Given the description of an element on the screen output the (x, y) to click on. 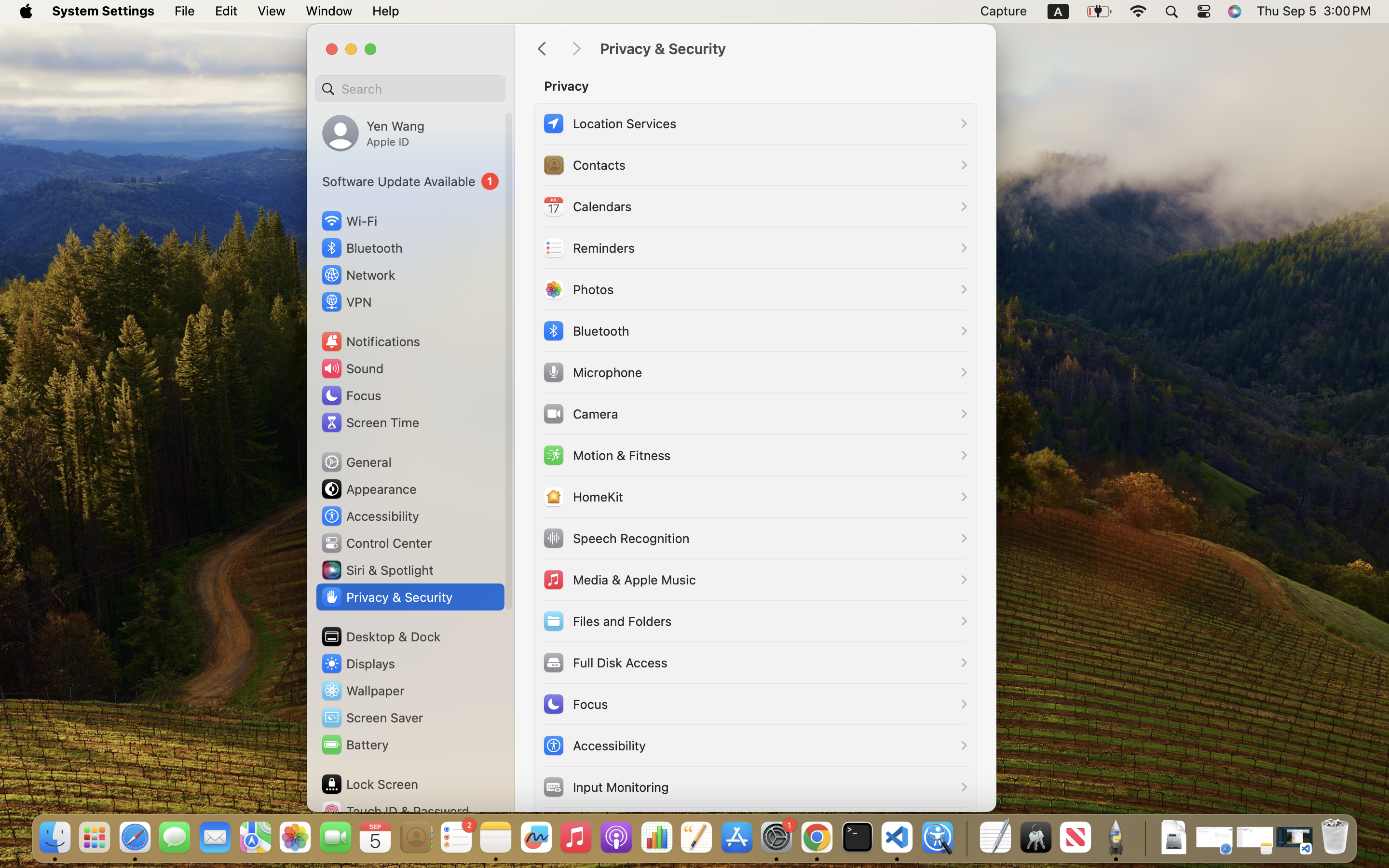
VPN Element type: AXStaticText (345, 301)
0.4285714328289032 Element type: AXDockItem (965, 837)
Wallpaper Element type: AXStaticText (362, 690)
Bluetooth Element type: AXStaticText (361, 247)
General Element type: AXStaticText (355, 461)
